Given the description of an element on the screen output the (x, y) to click on. 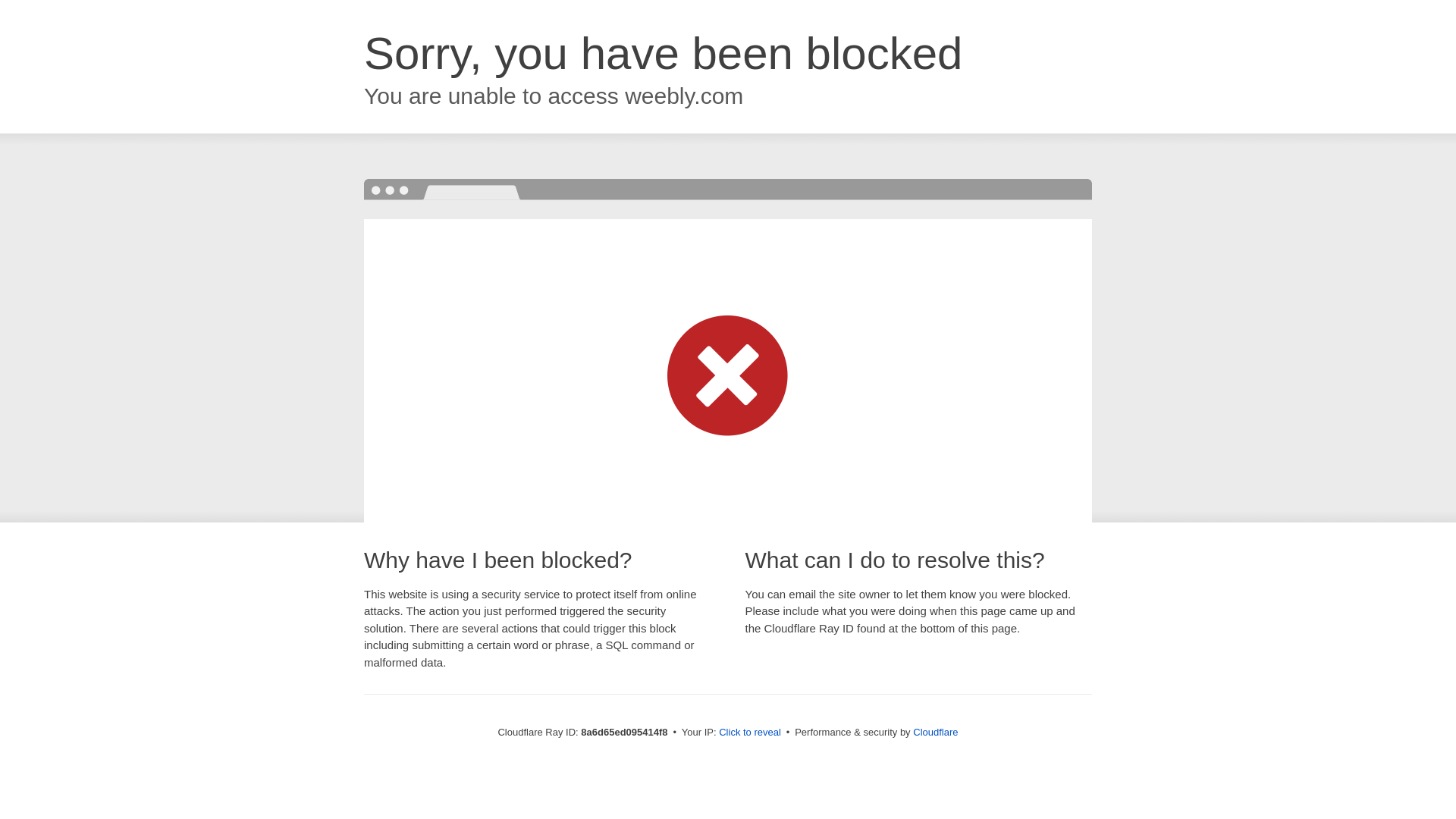
Cloudflare (935, 731)
Click to reveal (749, 732)
